Given the description of an element on the screen output the (x, y) to click on. 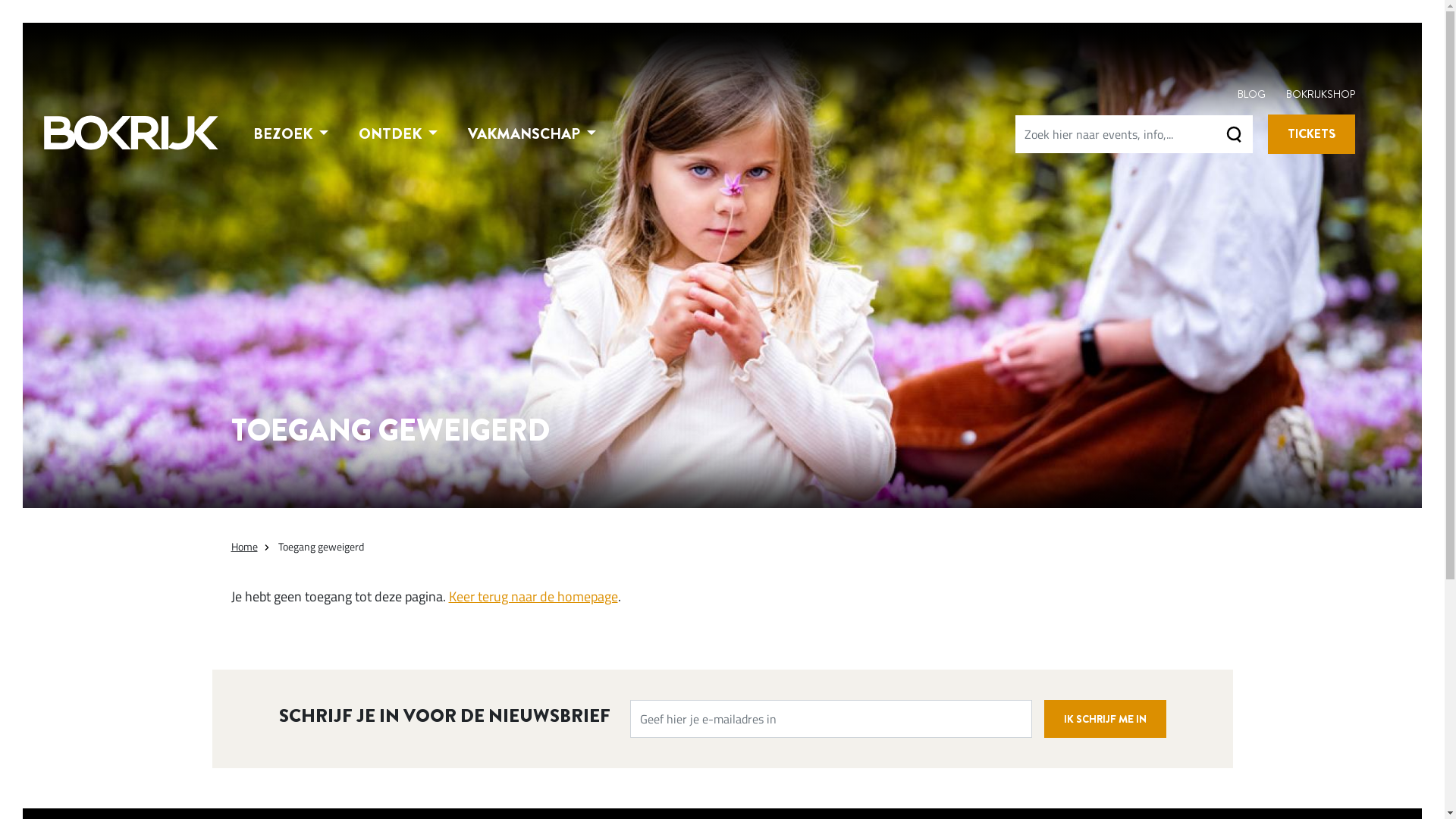
Keer terug naar de homepage Element type: text (533, 596)
VAKMANSCHAP Element type: text (531, 133)
Zoeken Element type: text (1233, 134)
Ik schrijf me in Element type: text (1104, 718)
BOKRIJKSHOP Element type: text (1320, 93)
BLOG Element type: text (1251, 93)
ONTDEK Element type: text (397, 133)
Bokrijk homepage Element type: text (130, 132)
BEZOEK Element type: text (290, 133)
TICKETS Element type: text (1311, 133)
Home Element type: text (243, 546)
